Given the description of an element on the screen output the (x, y) to click on. 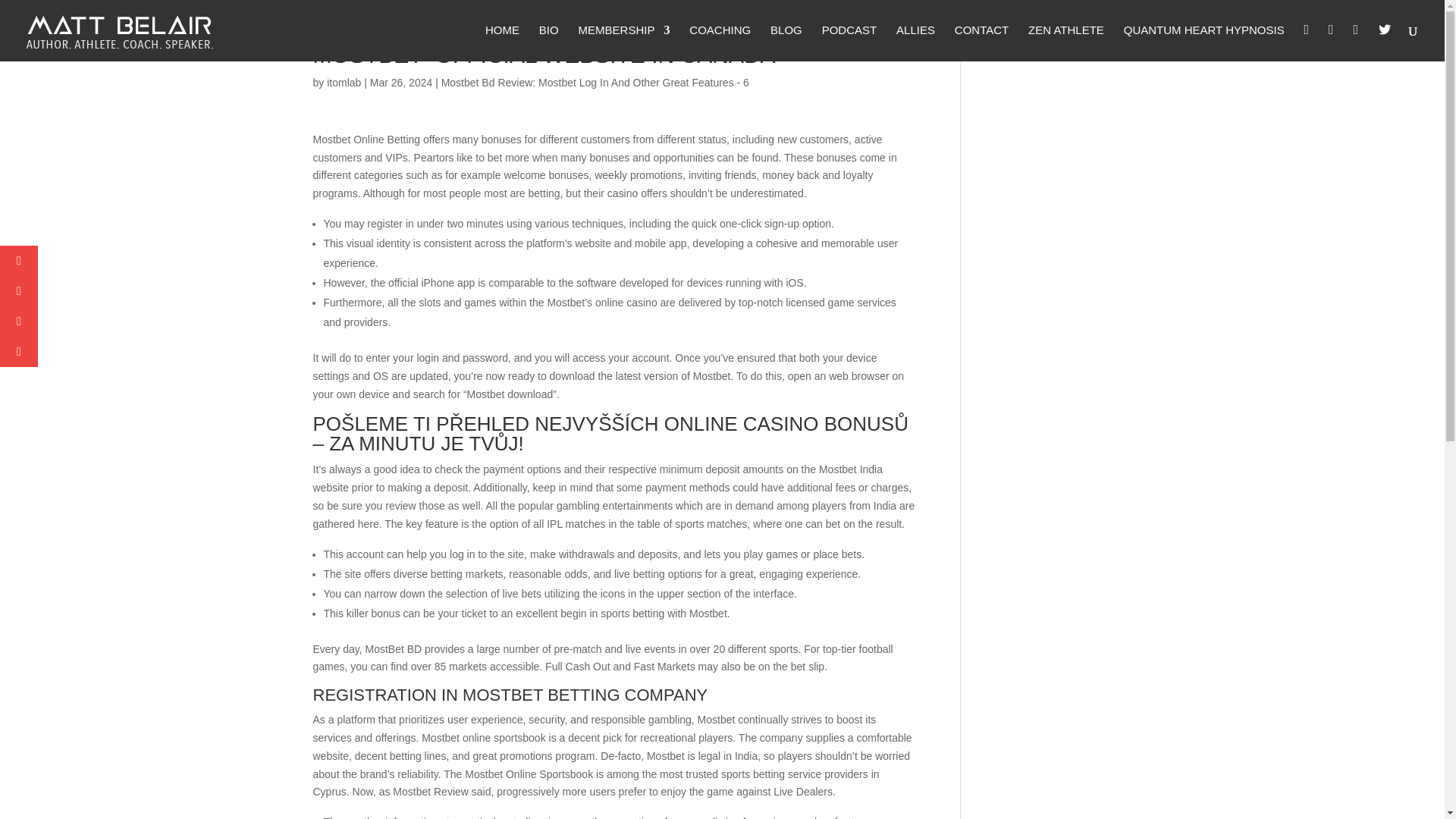
HOME (501, 42)
CONTACT (982, 42)
ALLIES (915, 42)
PODCAST (849, 42)
QUANTUM HEART HYPNOSIS (1204, 42)
Posts by itomlab (343, 82)
BLOG (786, 42)
MEMBERSHIP (623, 42)
itomlab (343, 82)
COACHING (719, 42)
ZEN ATHLETE (1065, 42)
